Given the description of an element on the screen output the (x, y) to click on. 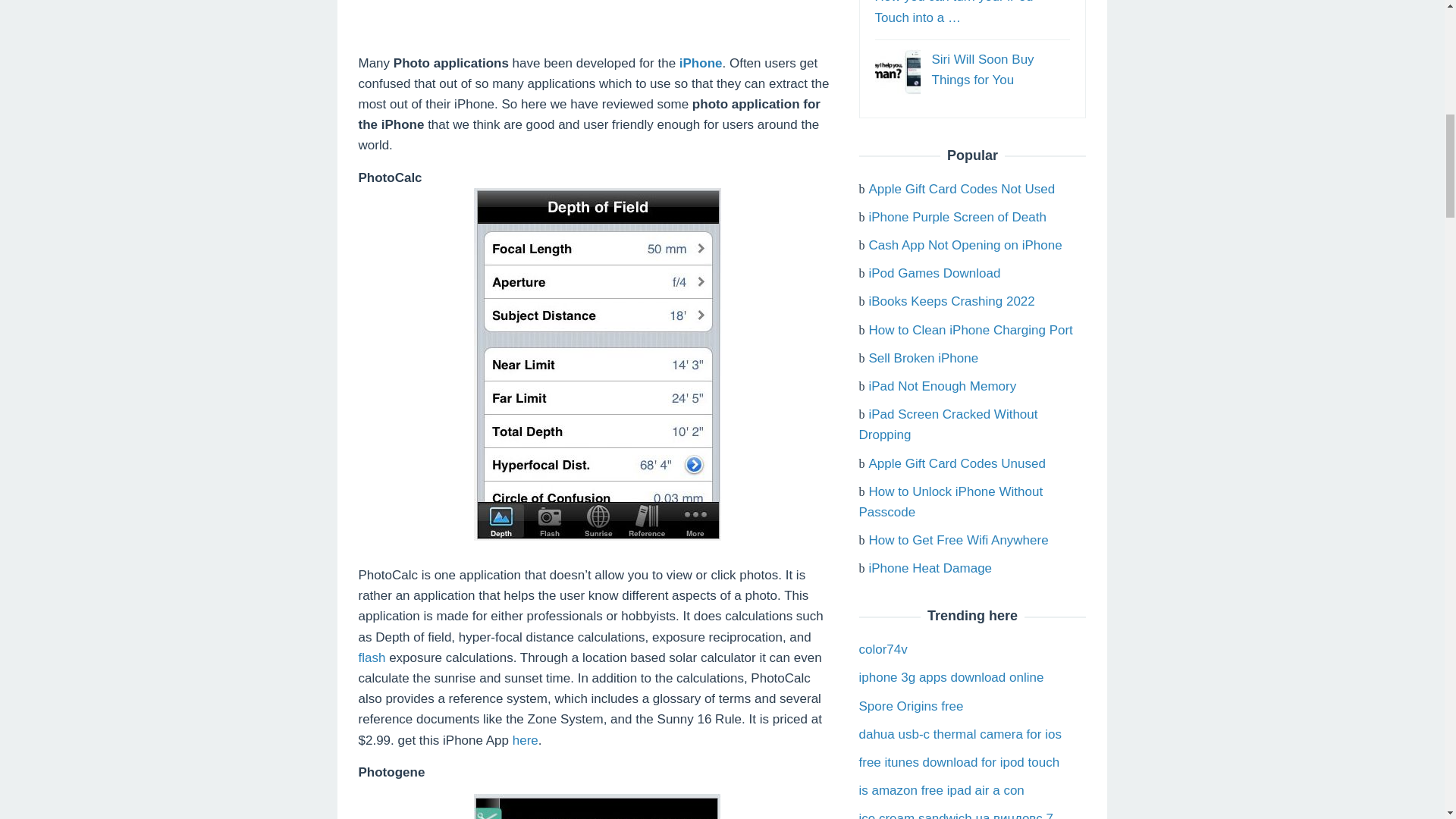
Siri Will Soon Buy Things for You (897, 72)
Permalink to: Siri Will Soon Buy Things for You (982, 69)
here (525, 740)
flash (371, 657)
iPhone (700, 63)
Photogene iphone (597, 806)
Advertisement (596, 26)
